Given the description of an element on the screen output the (x, y) to click on. 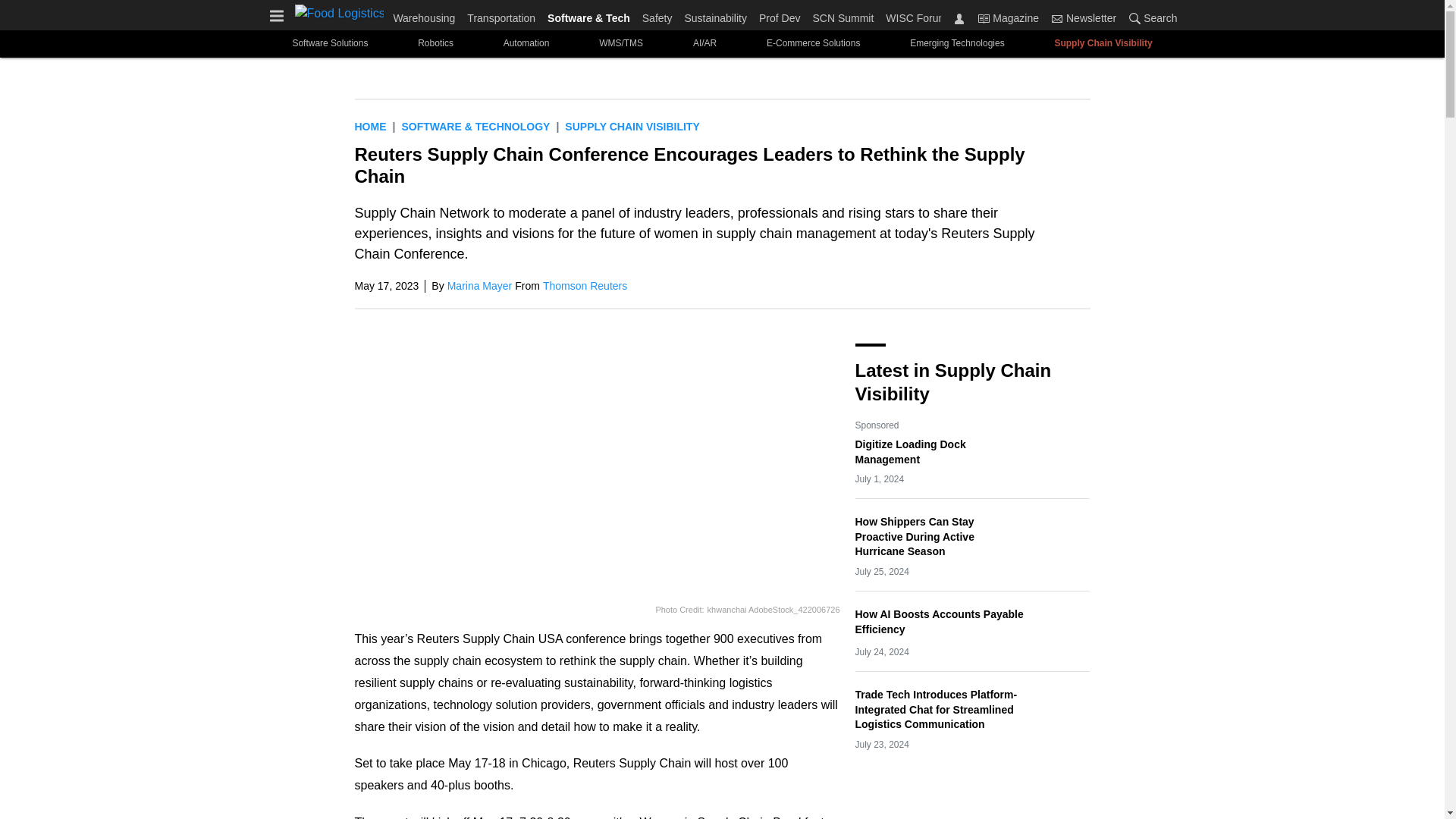
Warehousing (427, 15)
Search (1134, 18)
Transportation (501, 15)
Software Solutions (330, 43)
WISC Forum (913, 15)
Sustainability (715, 15)
Newsletter (1083, 17)
Robotics (434, 43)
Automation (525, 43)
E-Commerce Solutions (813, 43)
Magazine (1008, 17)
Supply Chain Visibility (1103, 43)
Supply Chain Visibility (631, 126)
Home (371, 126)
Sponsored (877, 425)
